Given the description of an element on the screen output the (x, y) to click on. 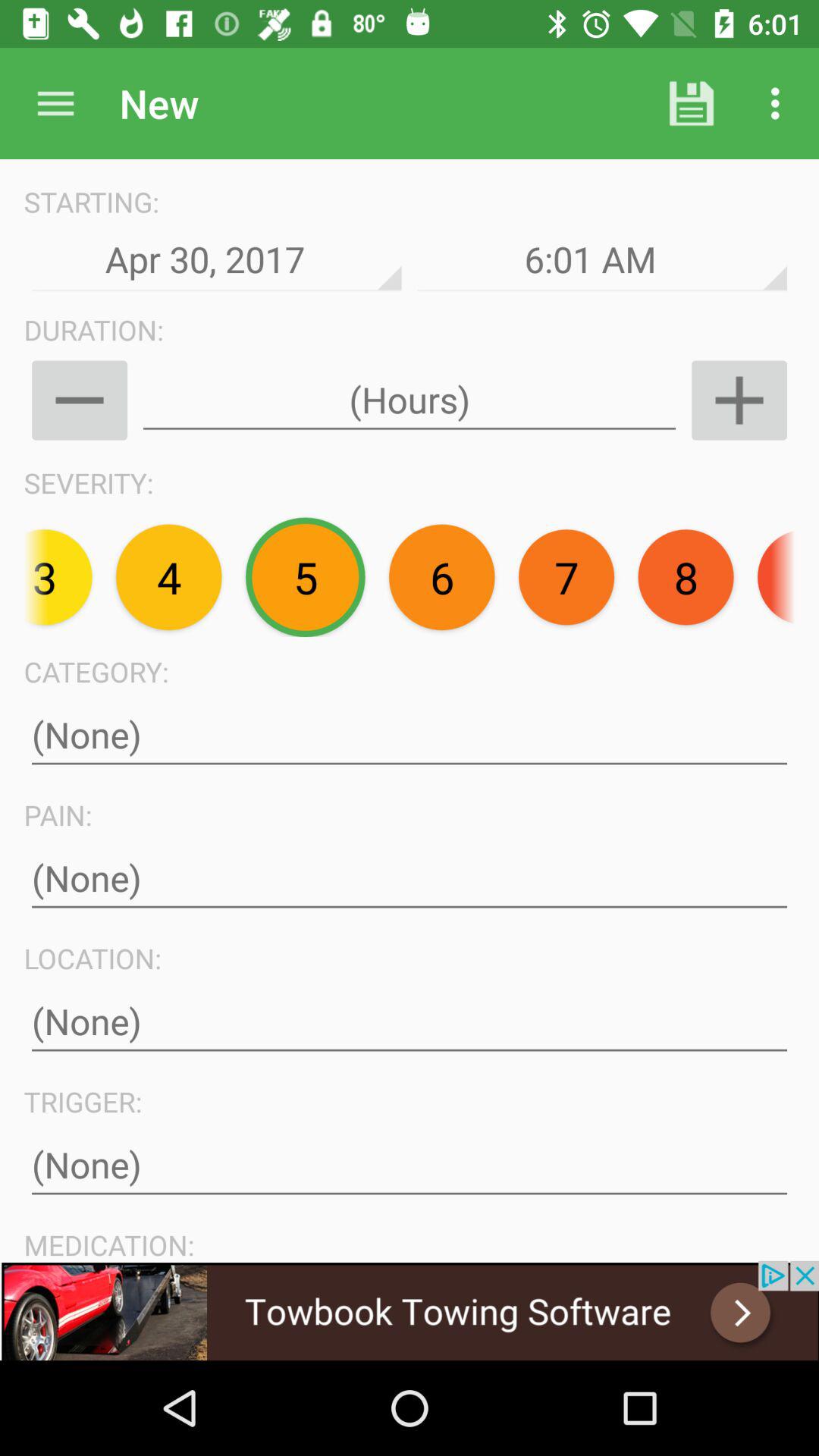
trigger field (409, 1165)
